Given the description of an element on the screen output the (x, y) to click on. 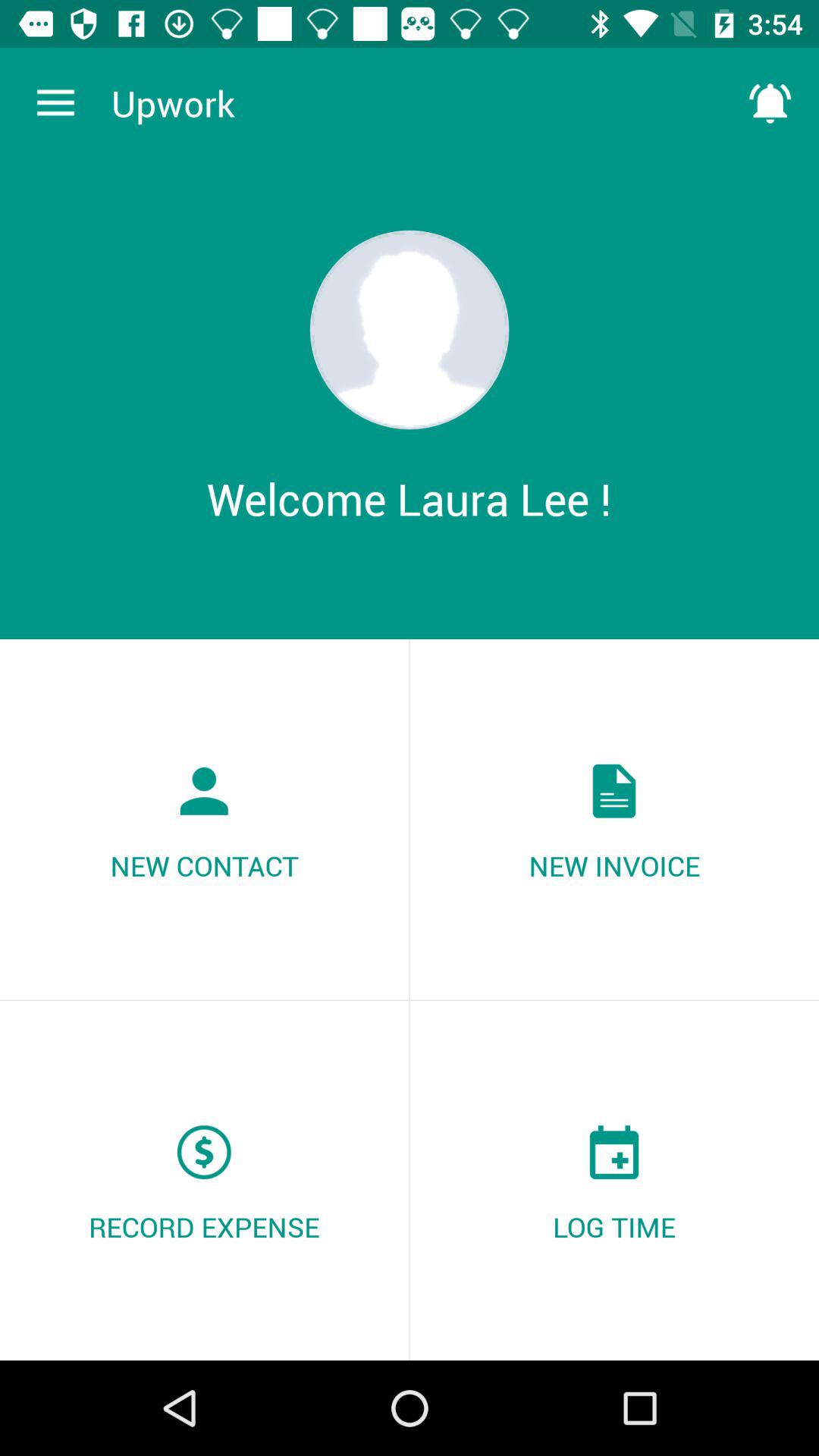
select item to the left of the upwork item (55, 103)
